Given the description of an element on the screen output the (x, y) to click on. 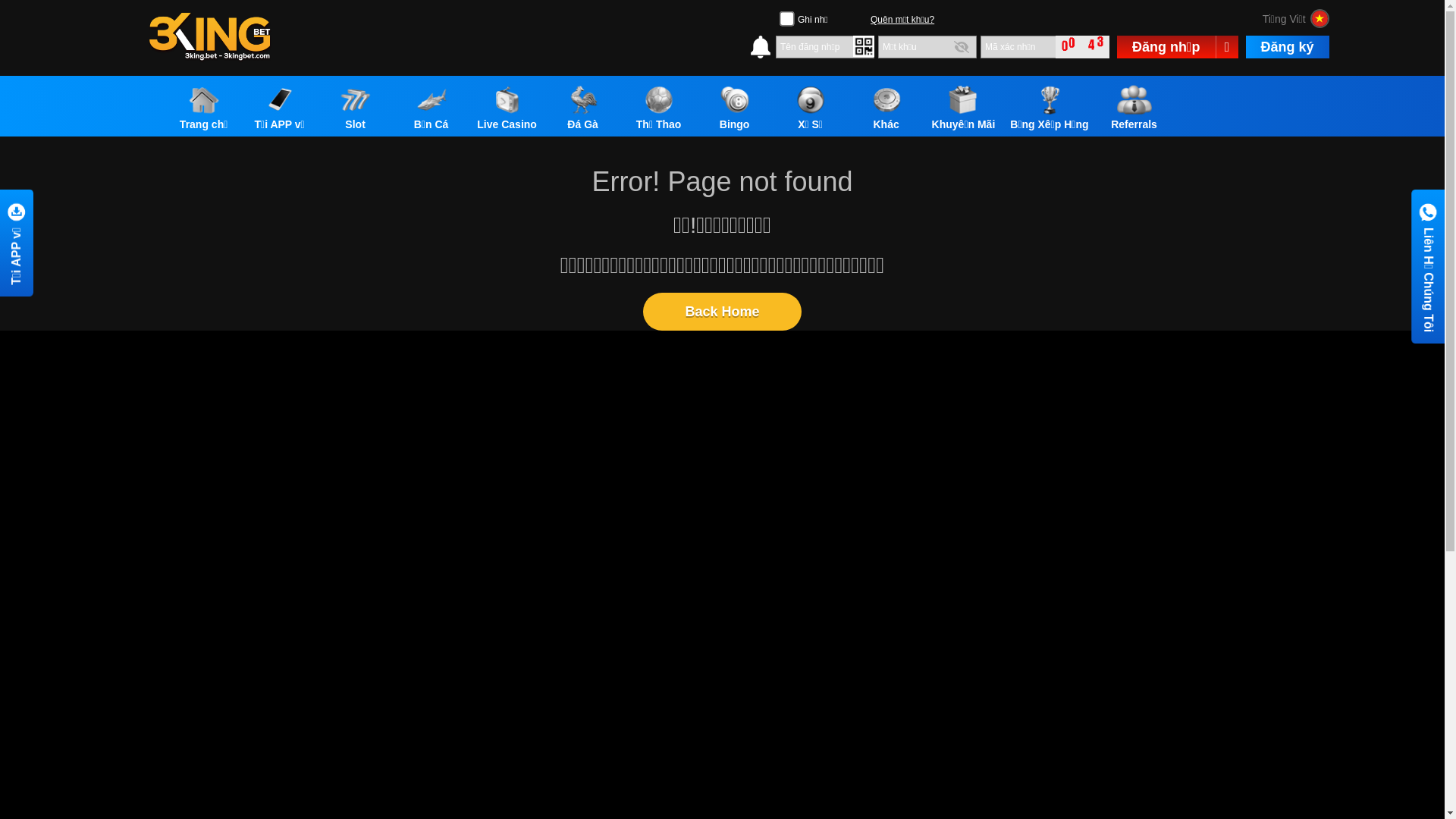
Live Casino Element type: text (506, 106)
Slot Element type: text (355, 106)
Bingo Element type: text (734, 106)
Referrals Element type: text (1134, 106)
3kingbet Element type: hover (209, 37)
Back Home Element type: text (721, 311)
